Given the description of an element on the screen output the (x, y) to click on. 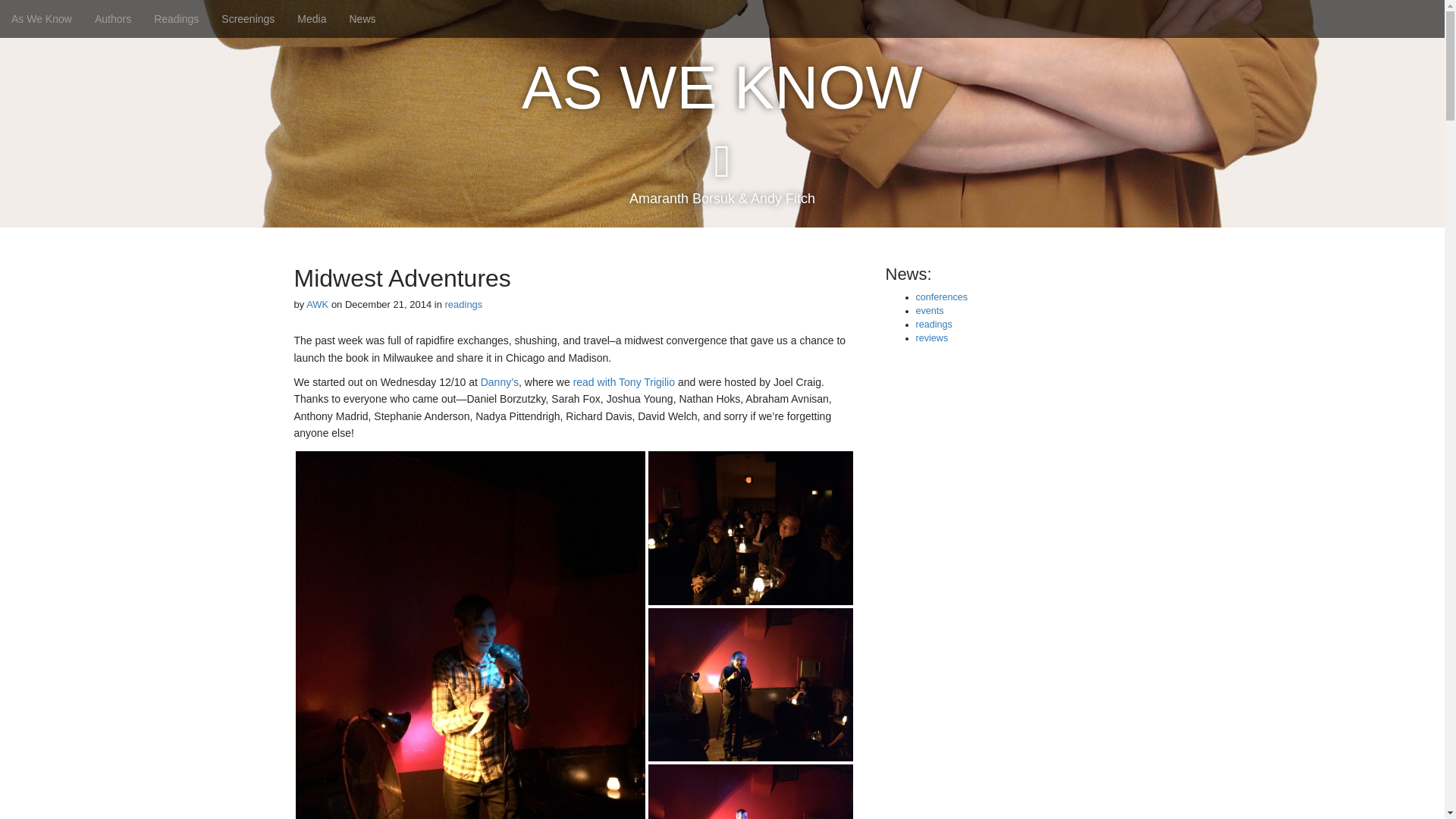
December 21, 2014 (387, 304)
Media (311, 18)
Screenings (247, 18)
AWK (317, 304)
News (362, 18)
Joel Craig (749, 791)
Readings (175, 18)
As We Know (41, 18)
Joel Craig (470, 635)
Authors (112, 18)
